Given the description of an element on the screen output the (x, y) to click on. 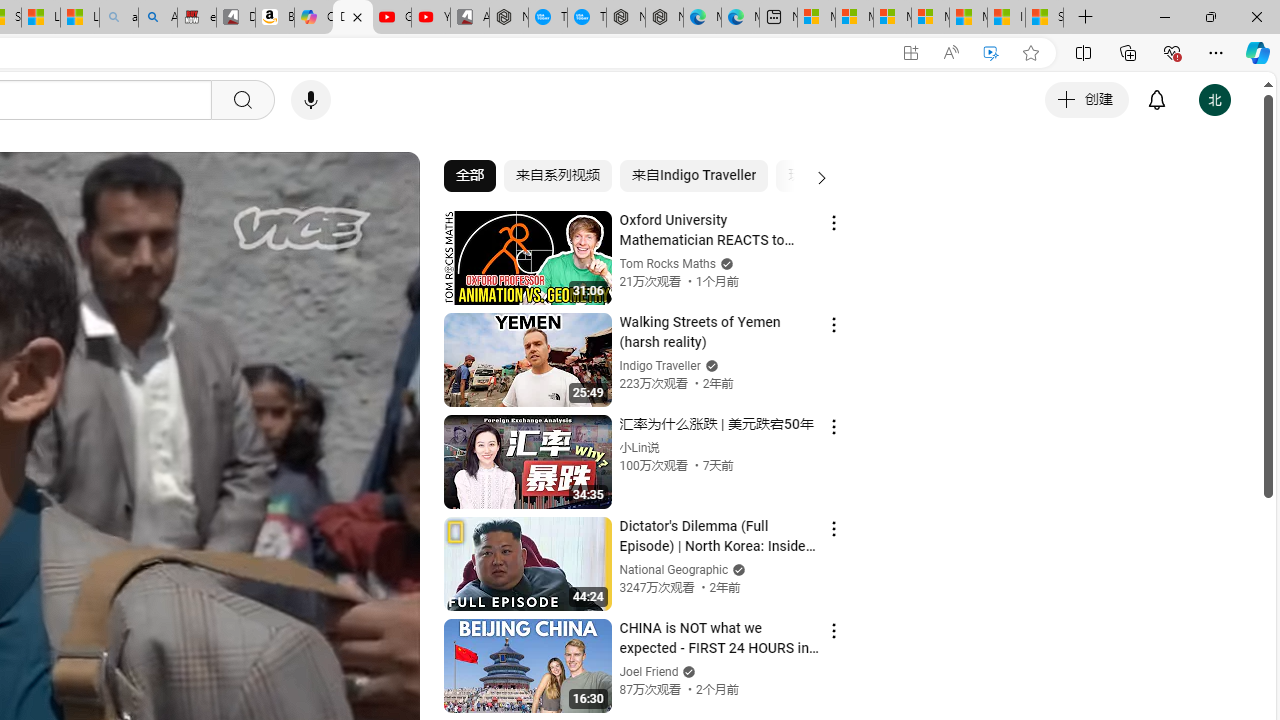
Copilot (313, 17)
Day 1: Arriving in Yemen (surreal to be here) - YouTube (353, 17)
